Given the description of an element on the screen output the (x, y) to click on. 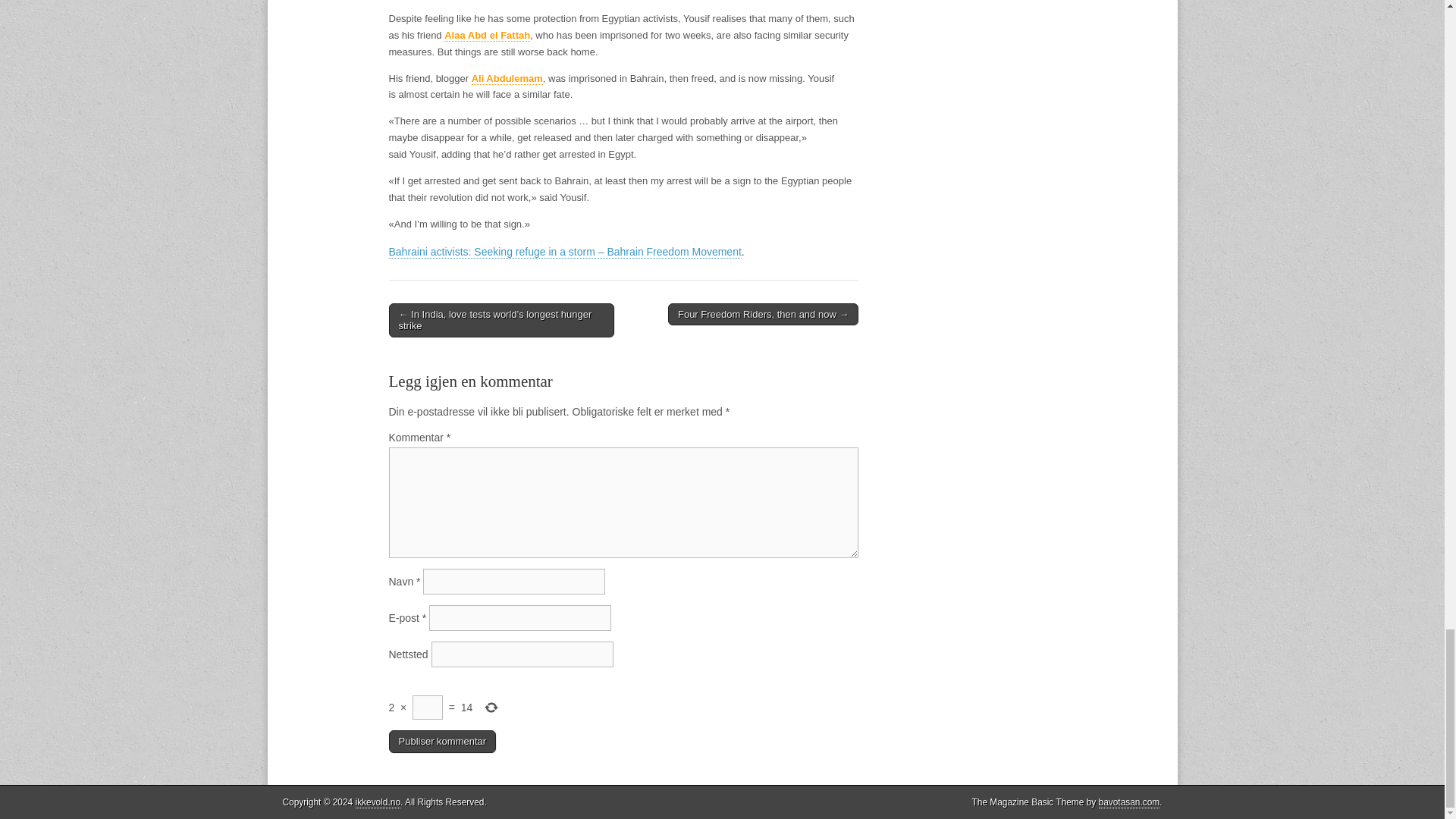
Publiser kommentar (442, 741)
Publiser kommentar (442, 741)
Ali Abdulemam (507, 78)
Alaa Abd el Fattah (486, 35)
